Given the description of an element on the screen output the (x, y) to click on. 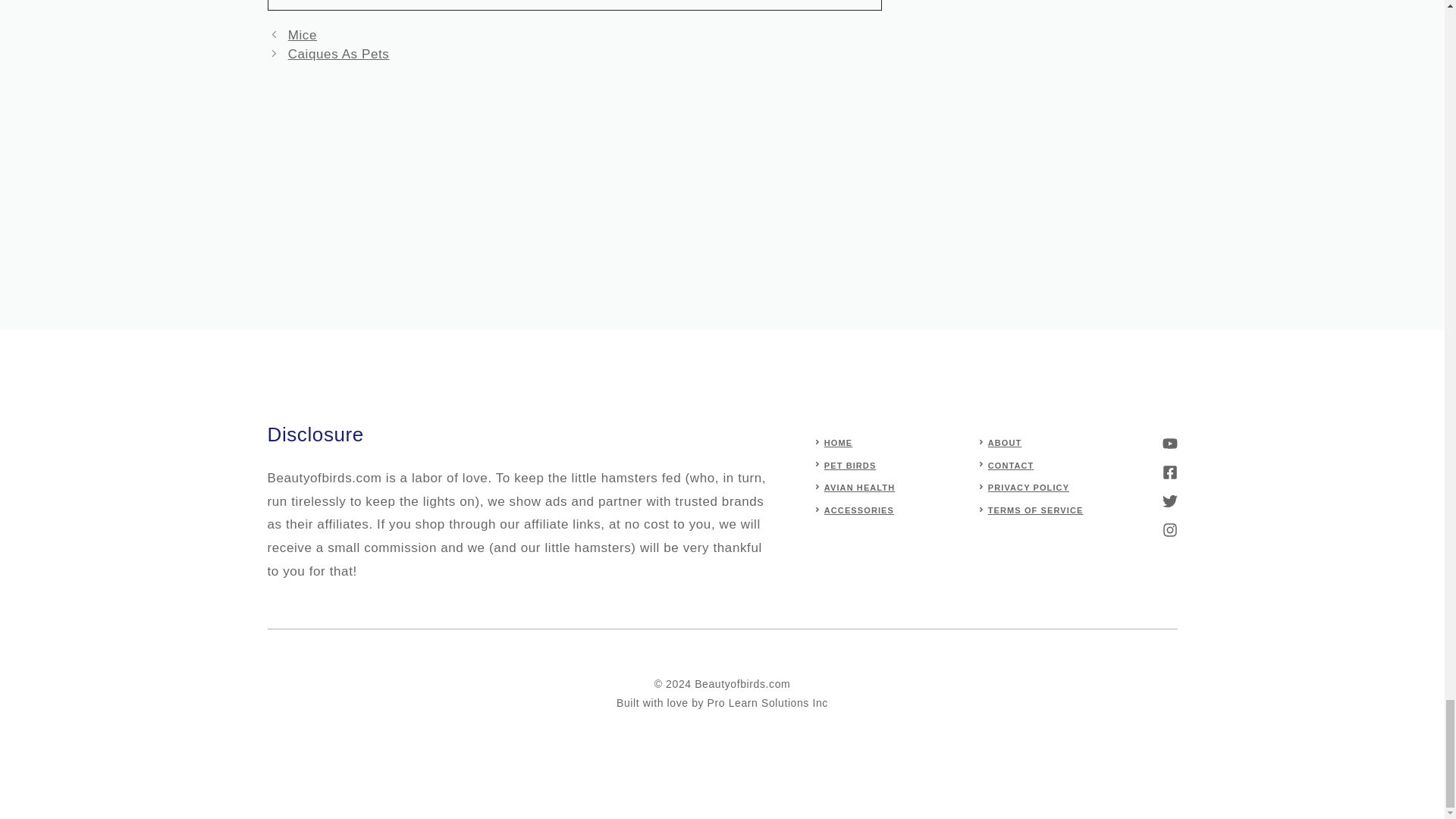
Mice (302, 34)
Caiques As Pets (339, 53)
TERMS OF SERVICE (1035, 510)
PRIVACY POLICY (1028, 487)
AVIAN HEALTH (859, 487)
ACCESSORIES (858, 510)
PET BIRDS (850, 465)
CONTACT (1010, 465)
HOME (837, 442)
ABOUT (1005, 442)
